Given the description of an element on the screen output the (x, y) to click on. 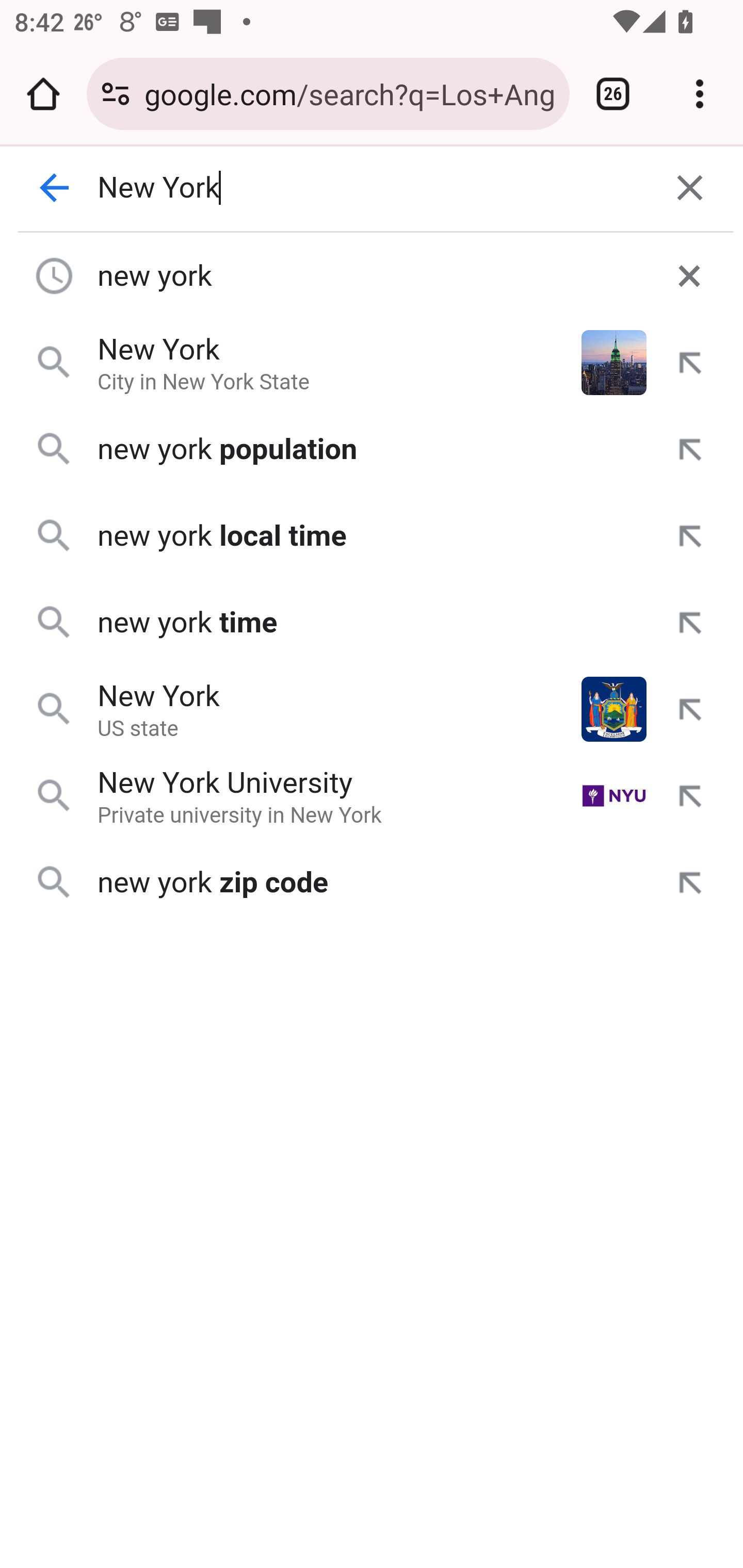
Open the home page (43, 93)
Connection is secure (115, 93)
Switch or close tabs (612, 93)
Customize and control Google Chrome (699, 93)
Back (54, 188)
Clear Search (690, 188)
New York (372, 188)
Delete (689, 274)
